Given the description of an element on the screen output the (x, y) to click on. 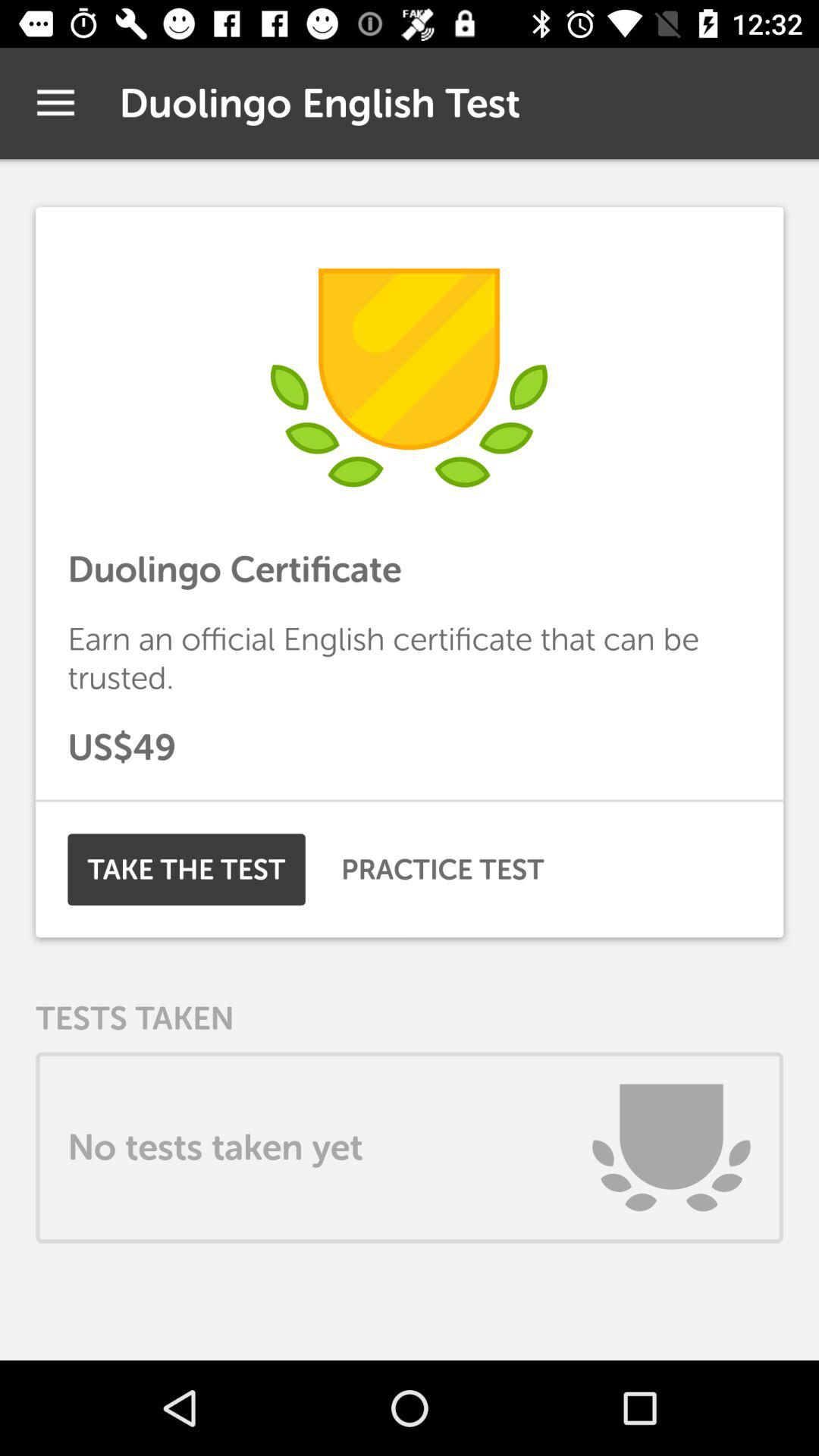
select icon next to the practice test item (186, 869)
